Given the description of an element on the screen output the (x, y) to click on. 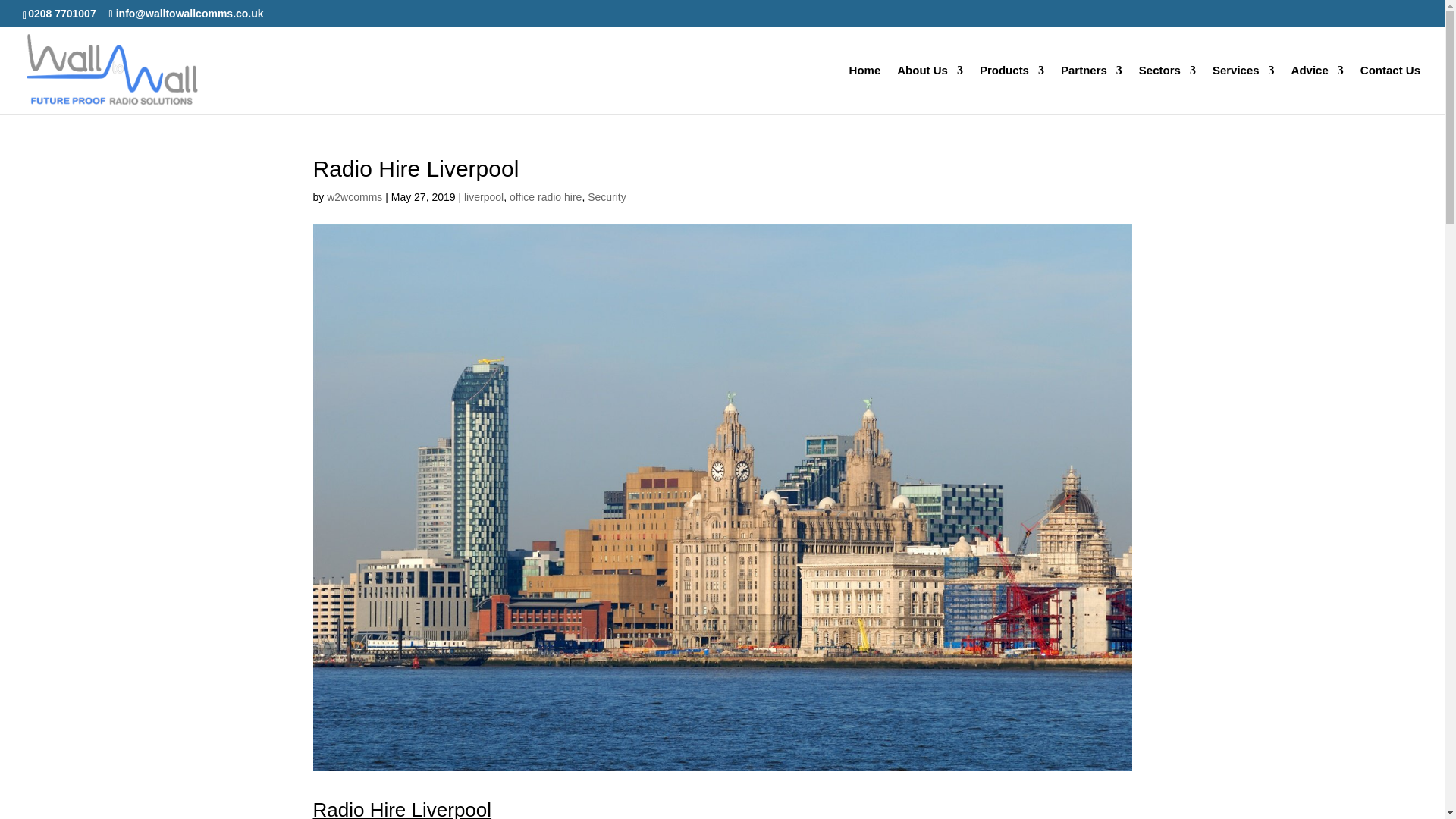
Partners (1091, 89)
About Us (929, 89)
Products (1011, 89)
Posts by w2wcomms (353, 196)
